Given the description of an element on the screen output the (x, y) to click on. 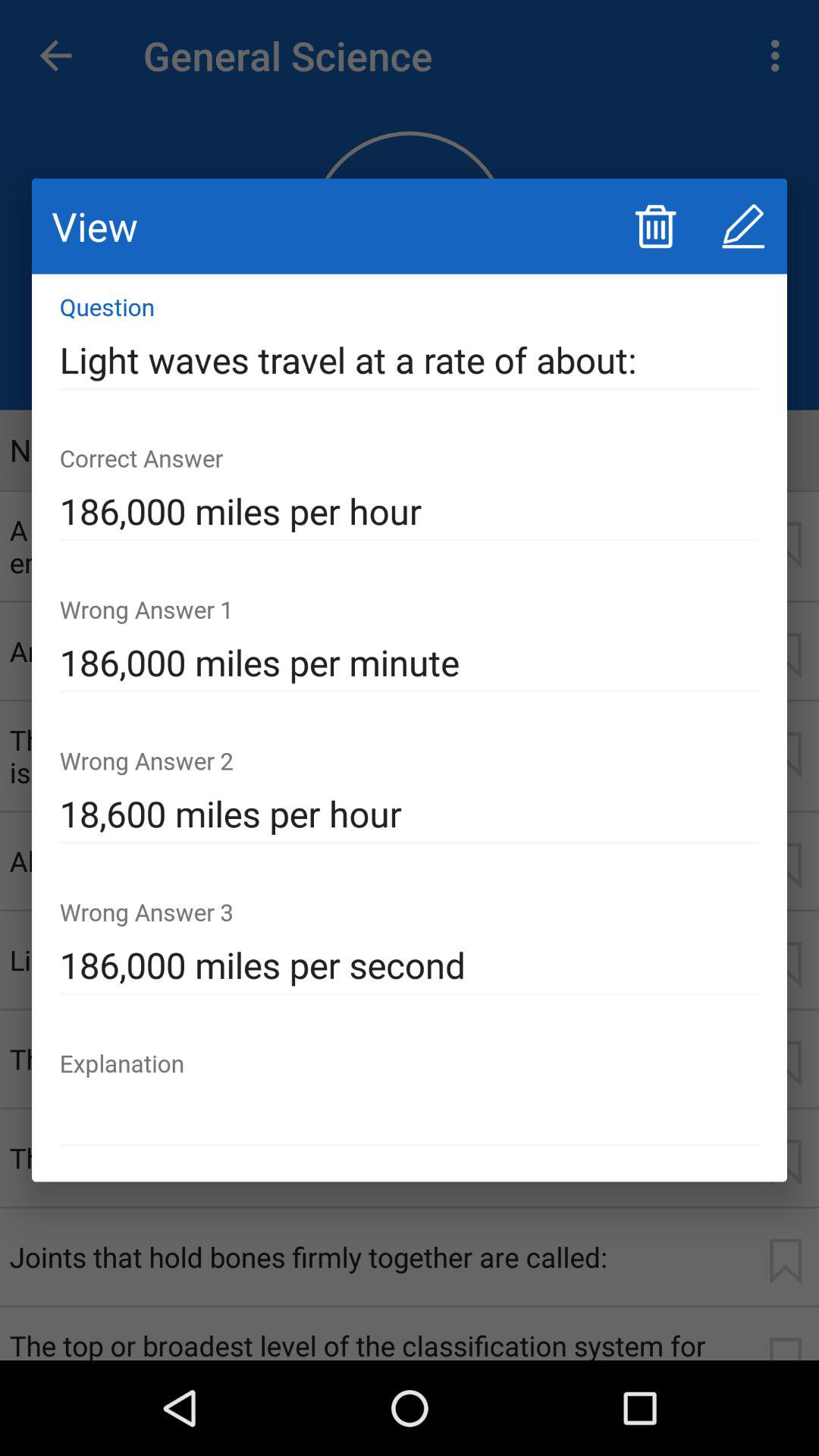
tap the icon above 186 000 miles (409, 814)
